Given the description of an element on the screen output the (x, y) to click on. 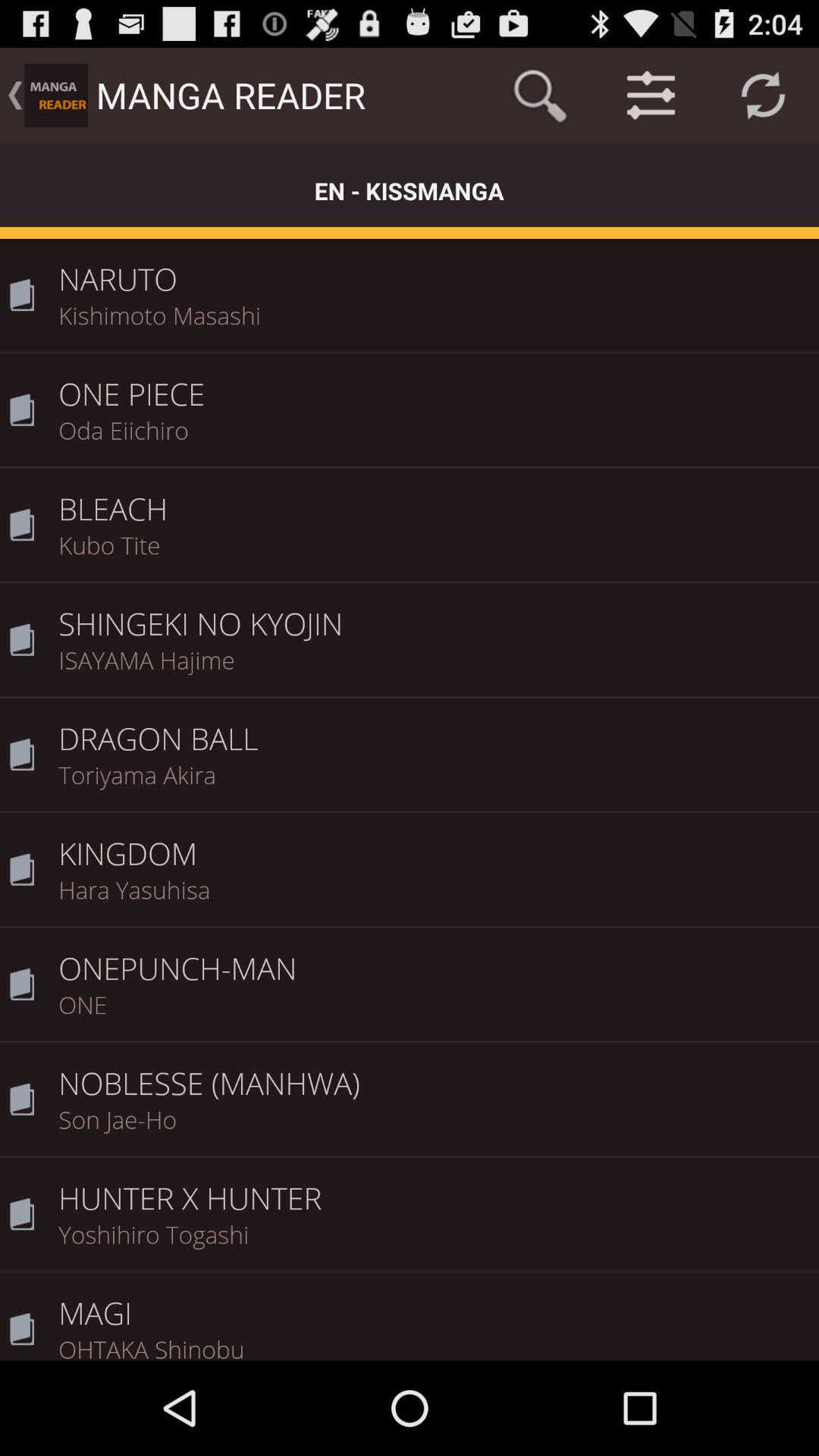
jump to onepunch-man item (433, 958)
